Given the description of an element on the screen output the (x, y) to click on. 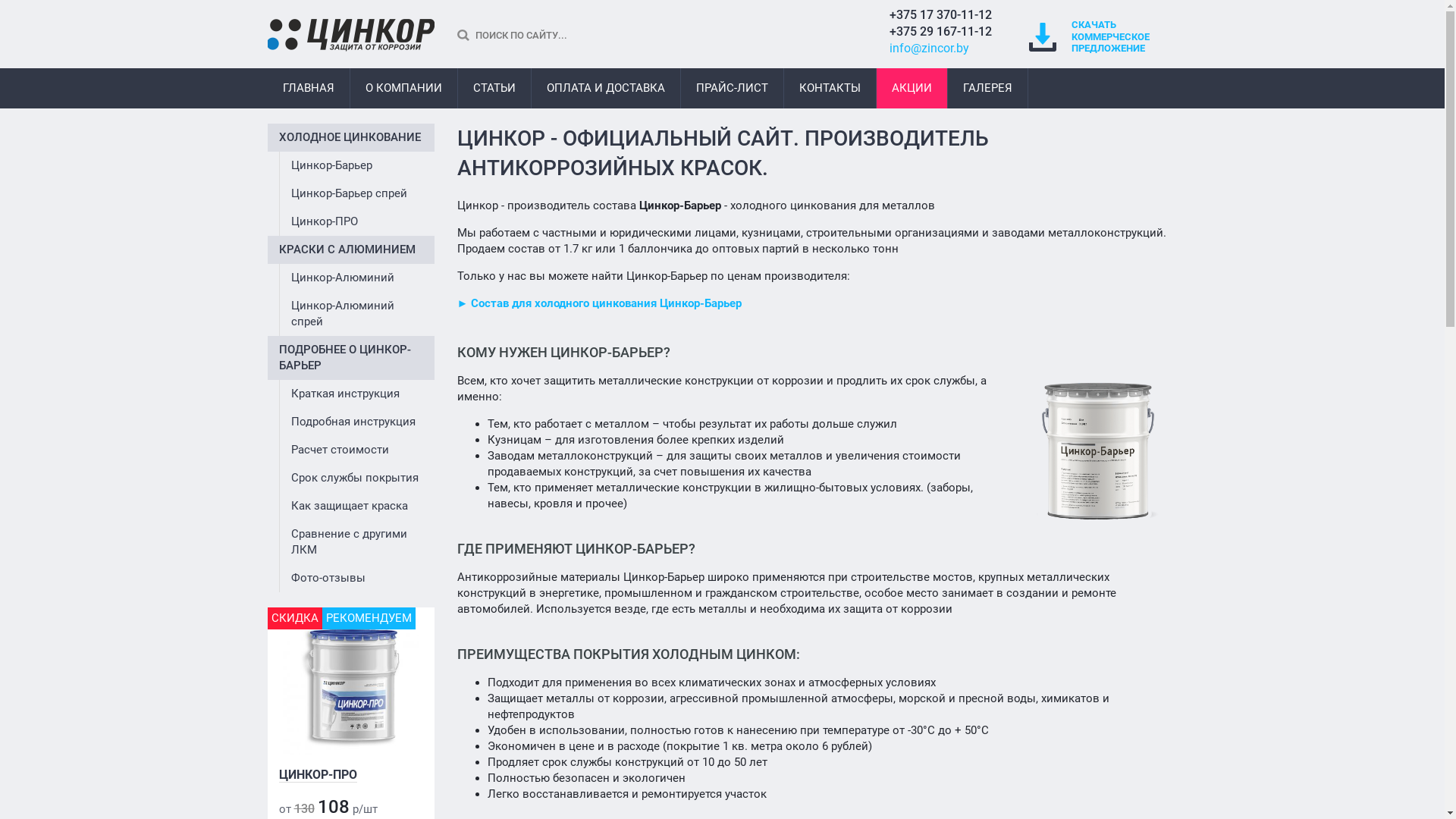
+375 17 370-11-12 Element type: text (939, 14)
+375 29 167-11-12 Element type: text (939, 31)
info@zincor.by Element type: text (928, 47)
